Given the description of an element on the screen output the (x, y) to click on. 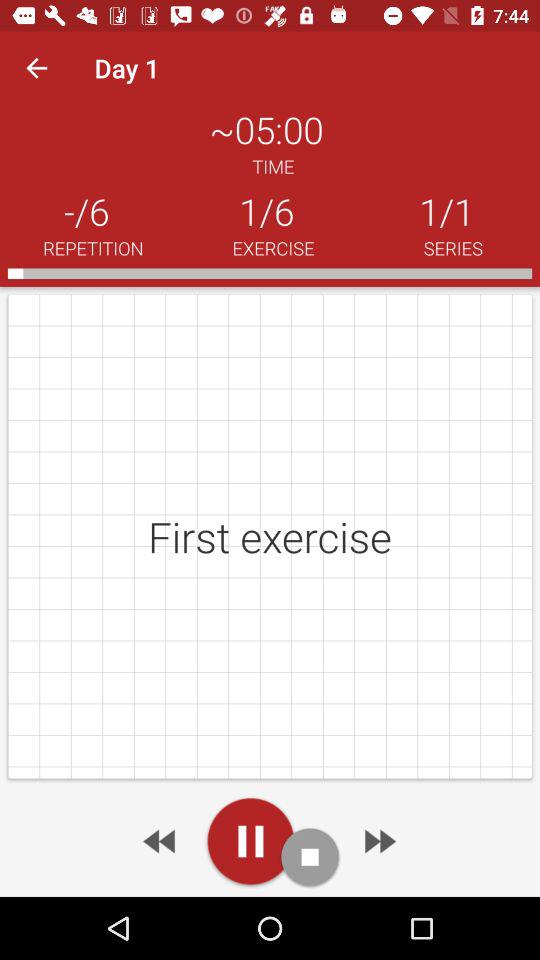
to pause or play the program (250, 841)
